Given the description of an element on the screen output the (x, y) to click on. 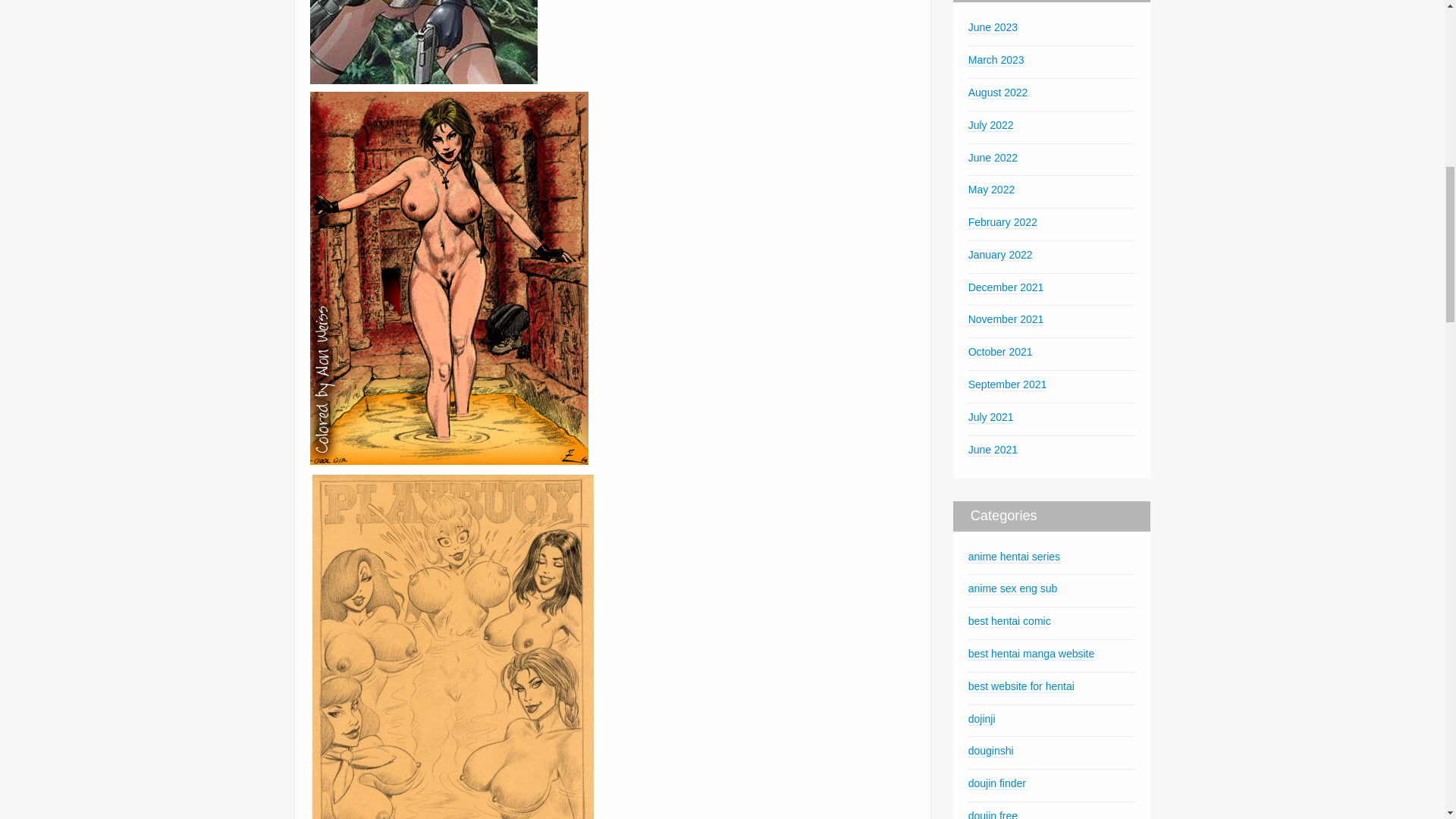
July 2021 (990, 417)
anime sex eng sub (1013, 588)
June 2021 (992, 449)
June 2022 (992, 157)
November 2021 (1005, 318)
anime hentai series (1013, 556)
September 2021 (1007, 384)
January 2022 (1000, 254)
December 2021 (1005, 287)
May 2022 (991, 189)
March 2023 (996, 60)
June 2023 (992, 27)
February 2022 (1002, 222)
October 2021 (1000, 351)
August 2022 (997, 92)
